Given the description of an element on the screen output the (x, y) to click on. 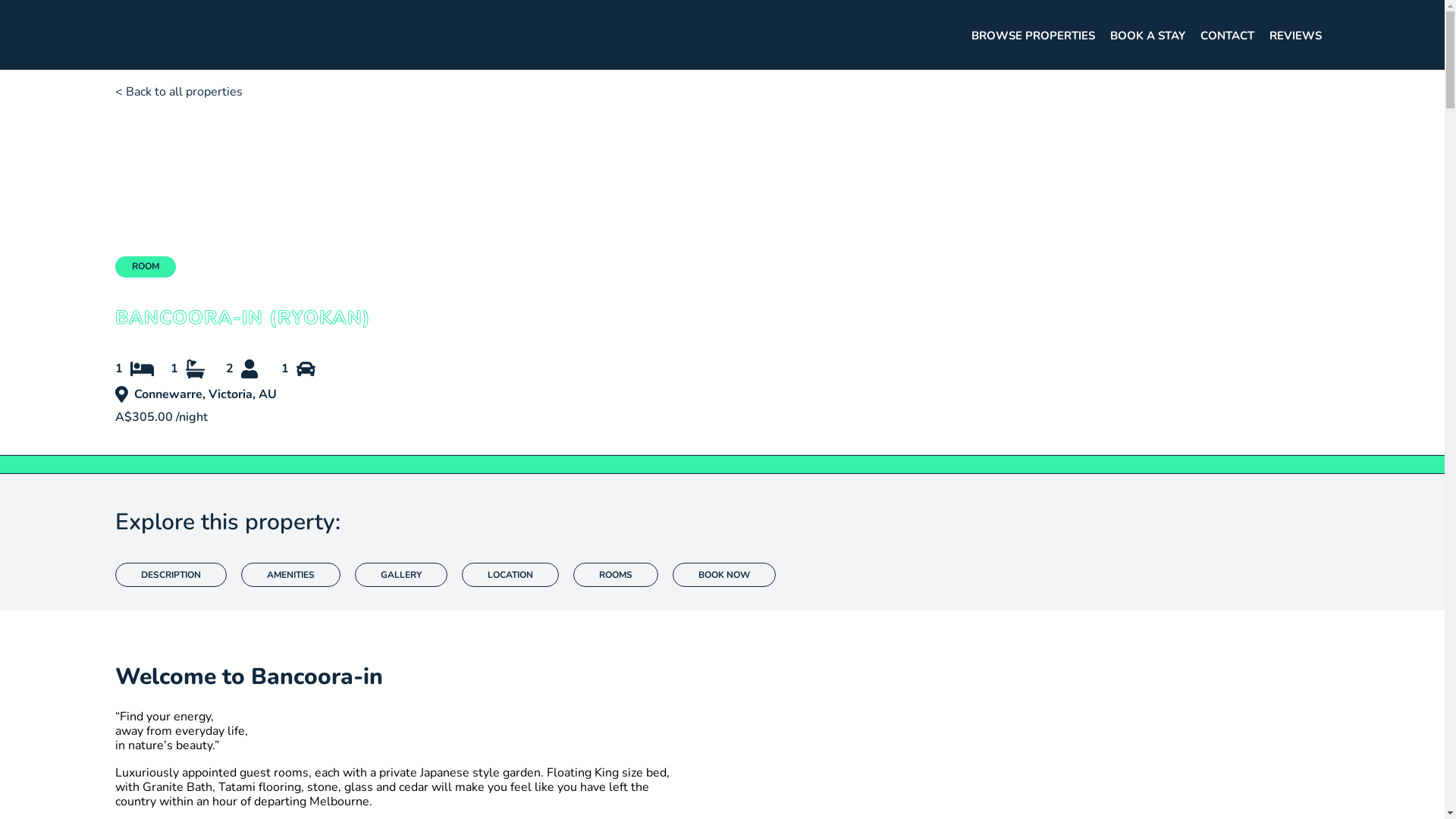
< Back to all properties Element type: text (178, 91)
BROWSE PROPERTIES Element type: text (1032, 35)
BOOK NOW Element type: text (723, 574)
REVIEWS Element type: text (1295, 35)
GALLERY Element type: text (400, 574)
BOOK A STAY Element type: text (1147, 35)
CONTACT Element type: text (1226, 35)
DESCRIPTION Element type: text (170, 574)
ROOMS Element type: text (615, 574)
AMENITIES Element type: text (290, 574)
LOCATION Element type: text (509, 574)
